Given the description of an element on the screen output the (x, y) to click on. 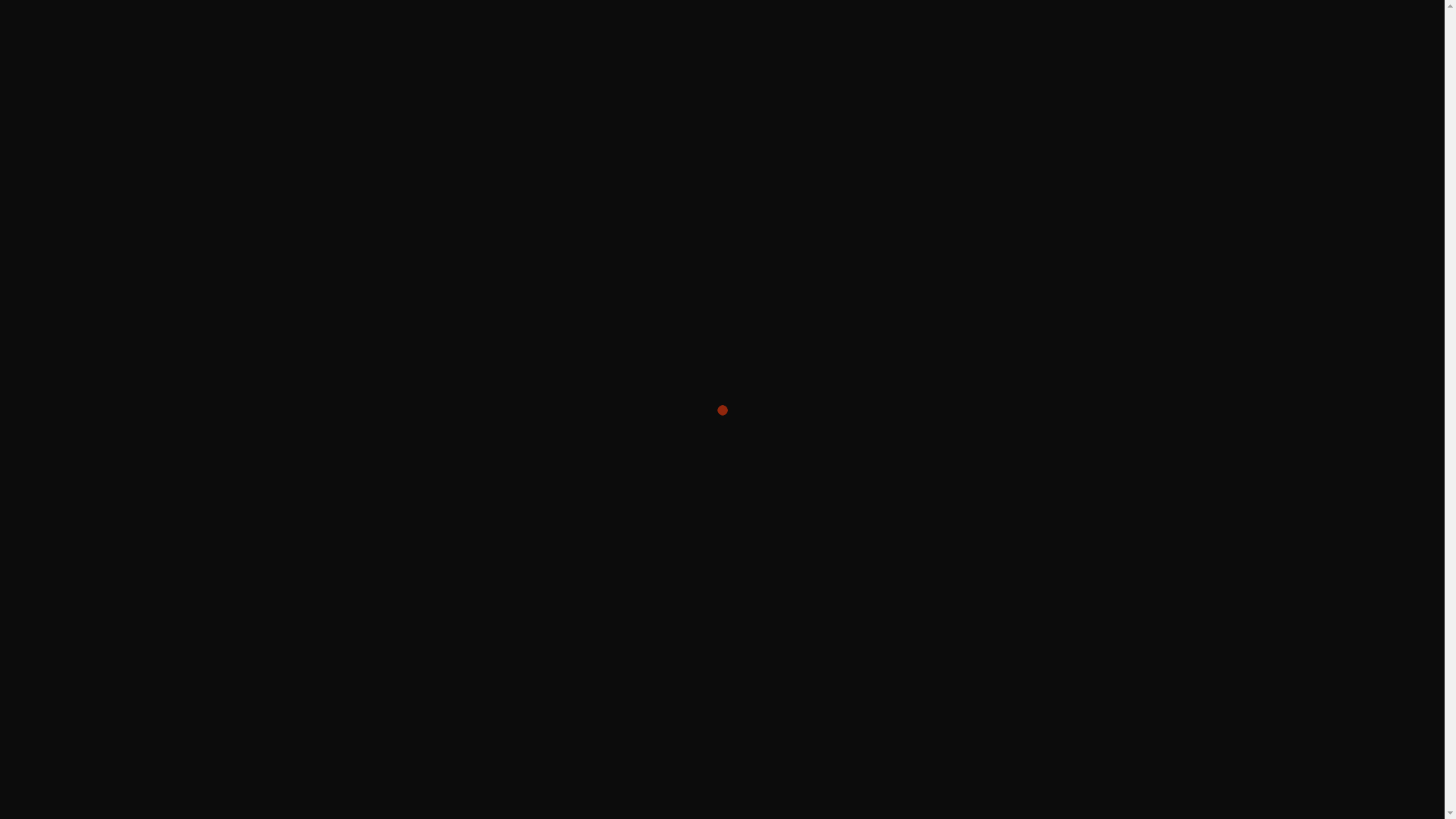
Clients Element type: text (1292, 22)
Contact Element type: text (1364, 22)
What We Do Element type: text (1207, 22)
Portfolio Element type: text (1117, 22)
Home Element type: text (1045, 22)
